Given the description of an element on the screen output the (x, y) to click on. 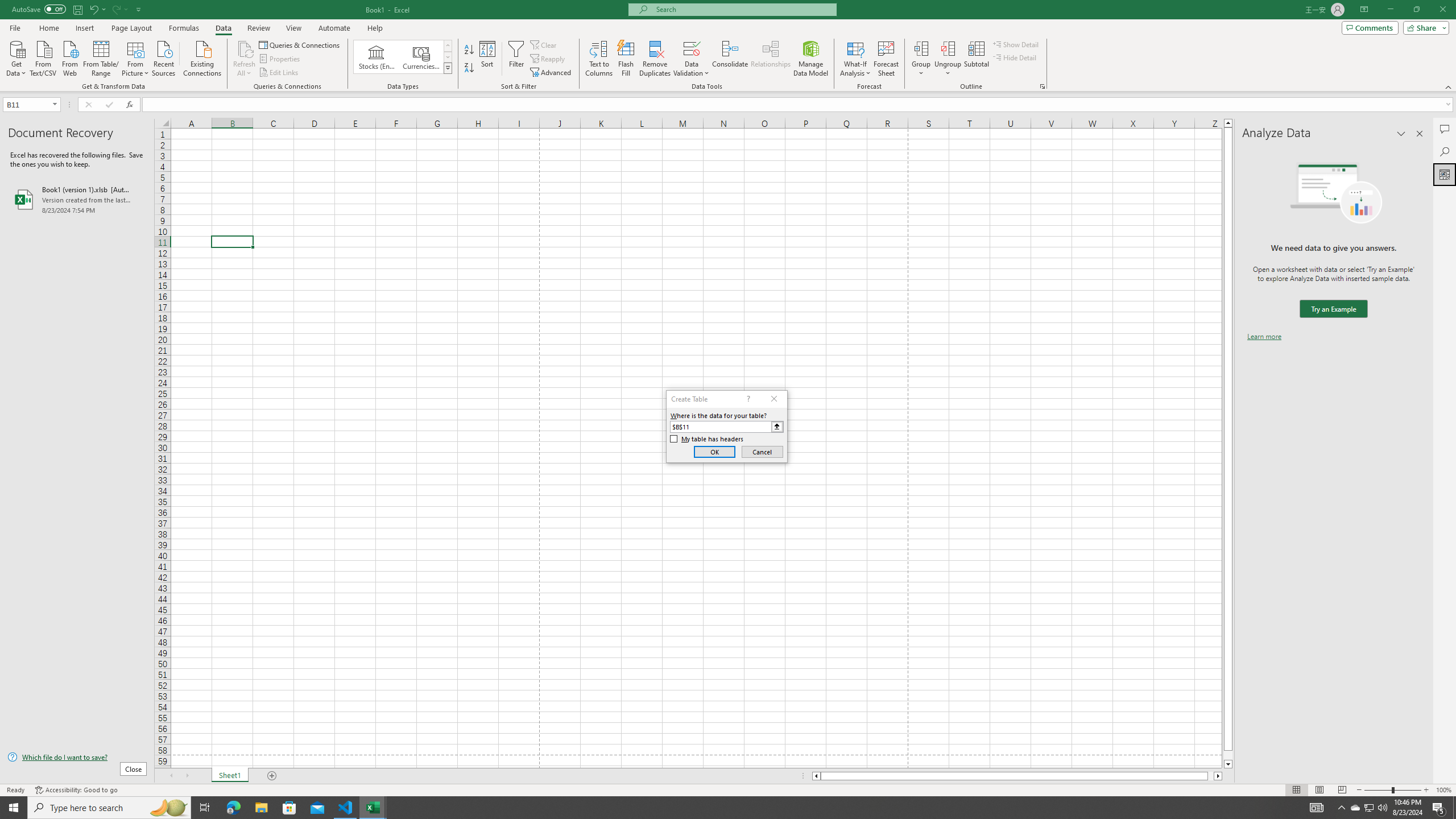
Consolidate... (729, 58)
